Given the description of an element on the screen output the (x, y) to click on. 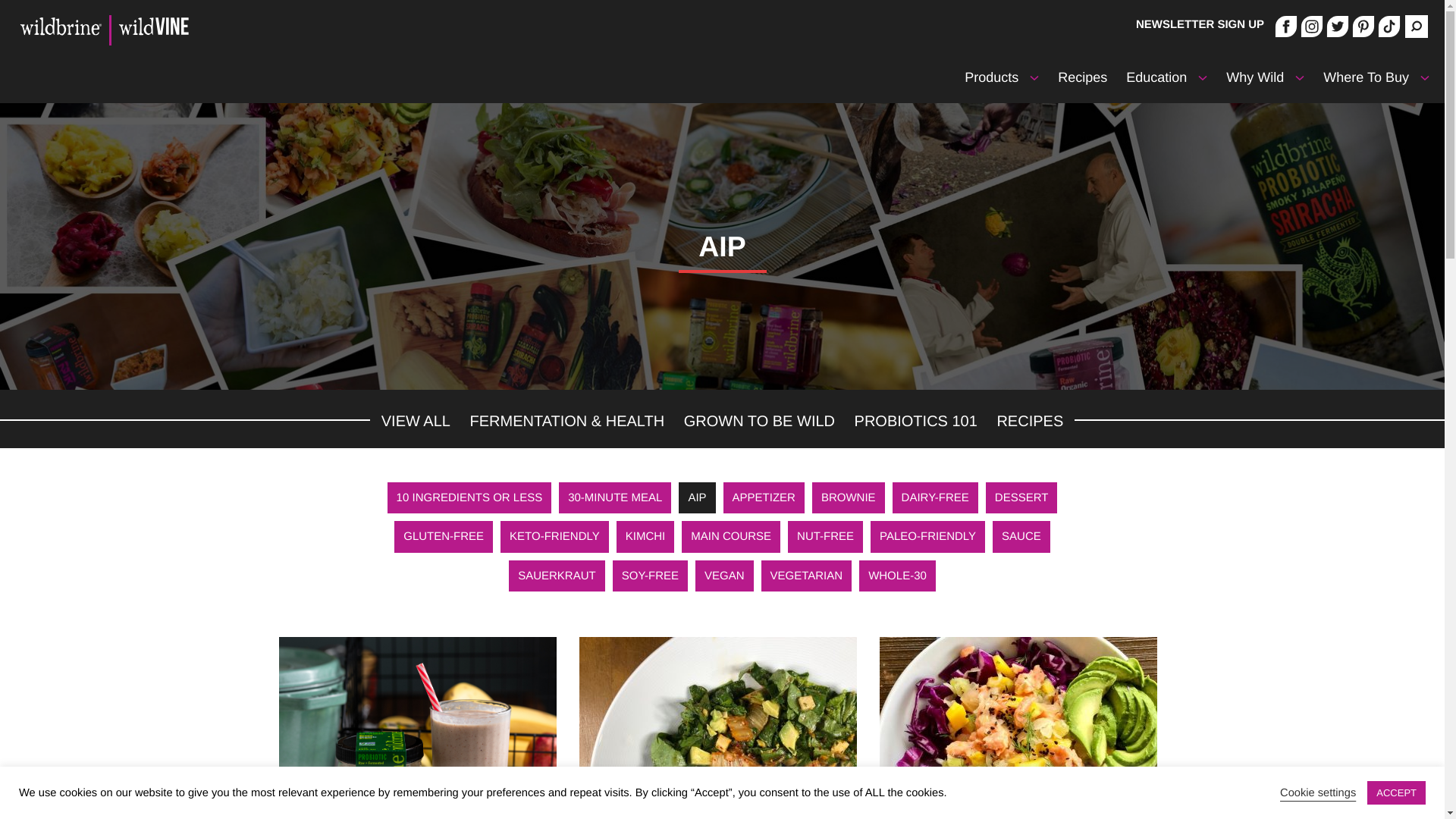
Instagram (1311, 32)
Recipes (1082, 77)
30-Minute Meal (615, 498)
Main Course (730, 536)
10 Ingredients or Less (469, 498)
Facebook (1286, 32)
Why Wild (1254, 77)
Pinterest (1363, 32)
Kimchi (645, 536)
Twitter (1337, 32)
